Given the description of an element on the screen output the (x, y) to click on. 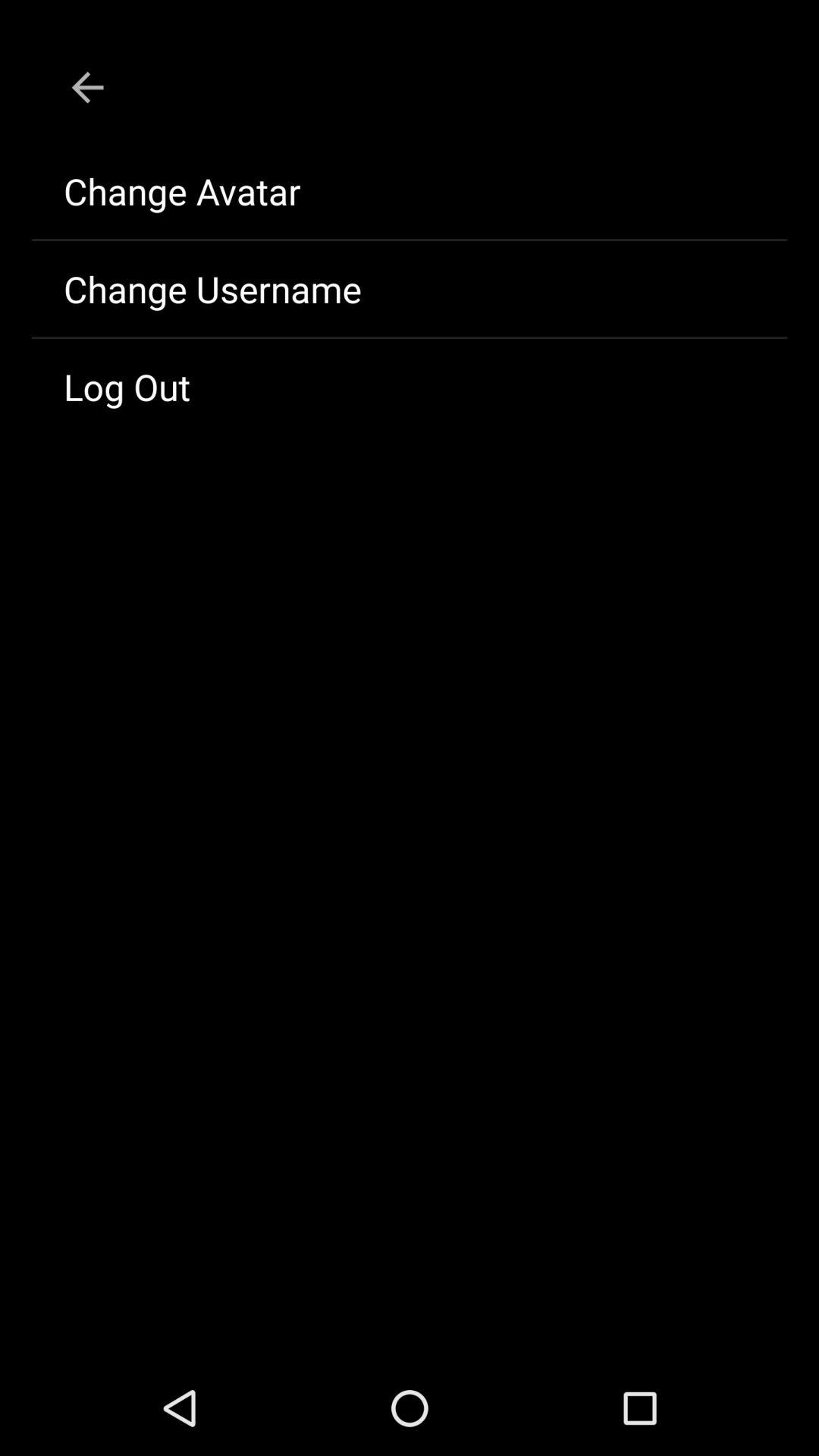
open the icon below change avatar (409, 288)
